Given the description of an element on the screen output the (x, y) to click on. 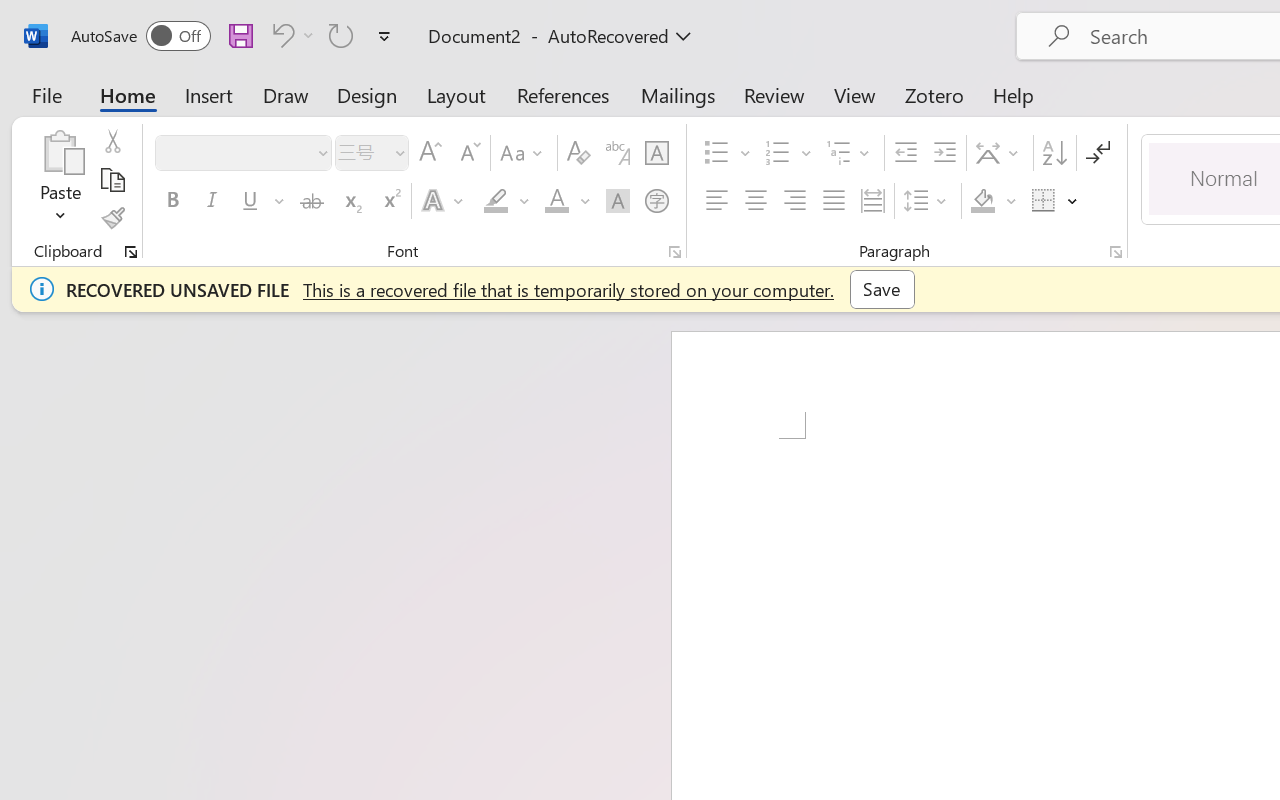
Office Clipboard... (131, 252)
Help (1013, 94)
Enclose Characters... (656, 201)
Subscript (350, 201)
Strikethrough (312, 201)
Increase Indent (944, 153)
Shading (993, 201)
Distributed (872, 201)
